Given the description of an element on the screen output the (x, y) to click on. 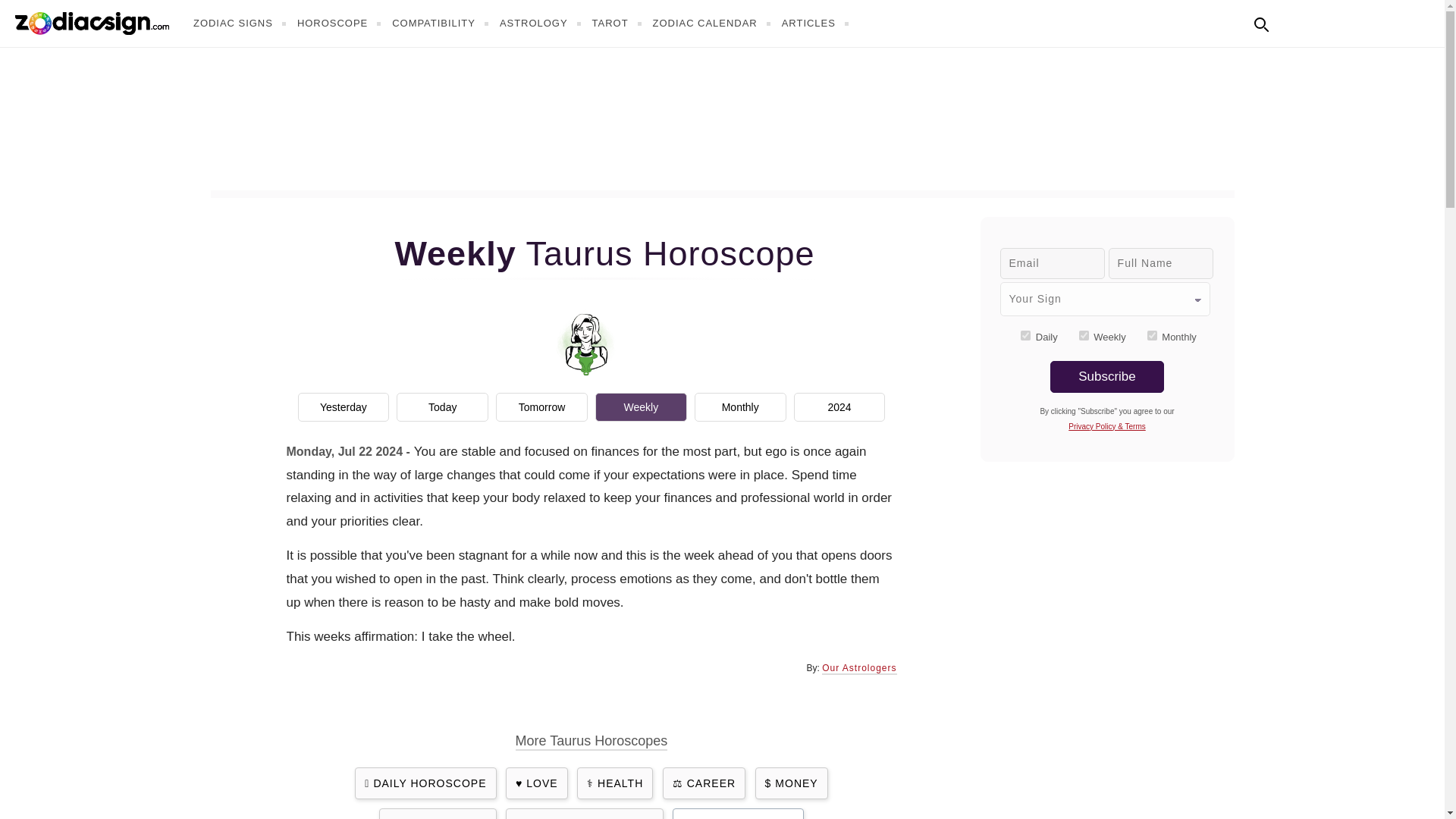
daily (1025, 335)
In English (1294, 21)
ZODIAC SIGNS (241, 23)
monthly (1152, 335)
HOROSCOPE (341, 23)
weekly (1083, 335)
